Given the description of an element on the screen output the (x, y) to click on. 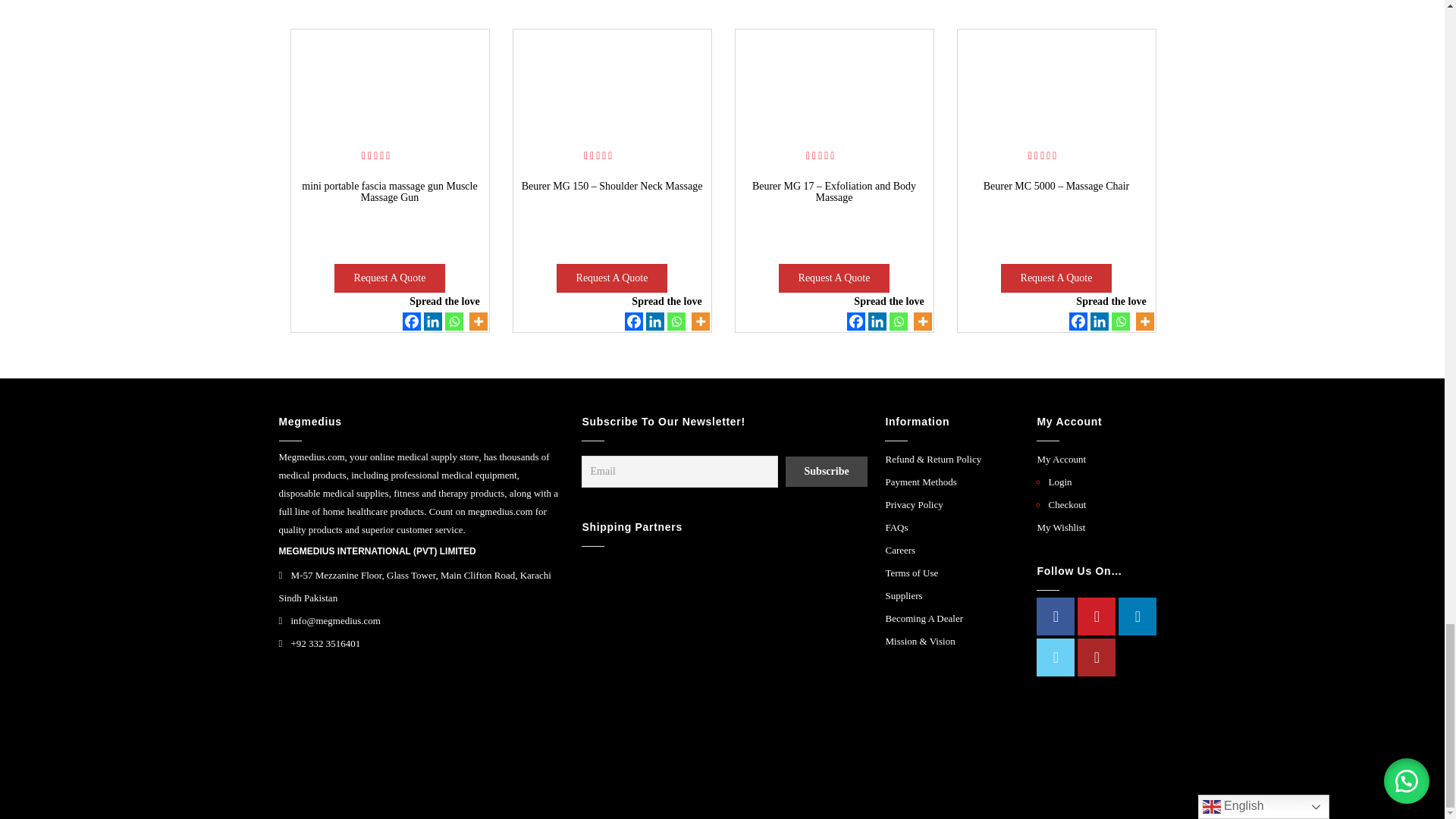
Subscribe (826, 471)
